Given the description of an element on the screen output the (x, y) to click on. 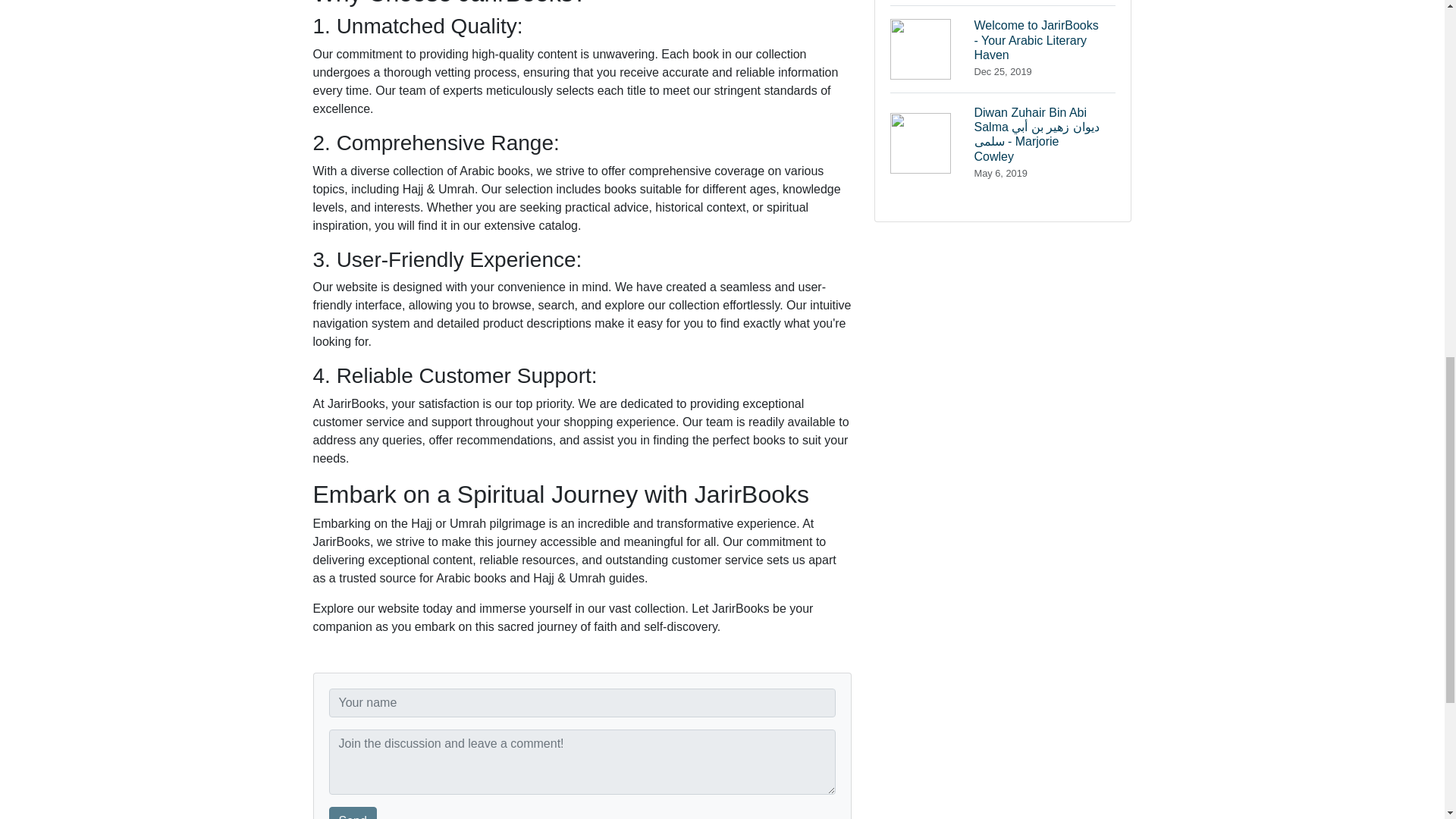
Send (353, 812)
Send (1002, 2)
